Given the description of an element on the screen output the (x, y) to click on. 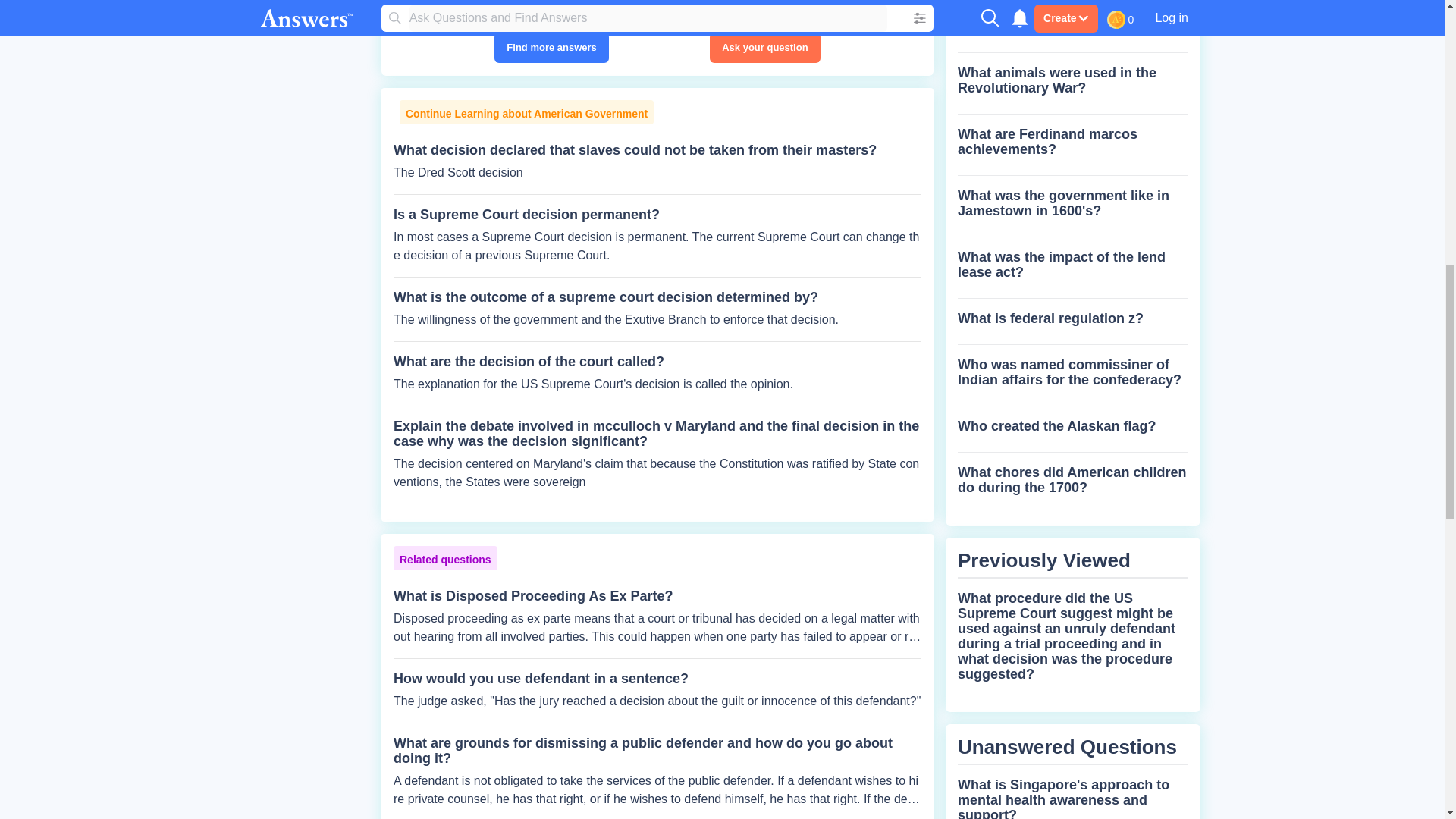
Find more answers (551, 47)
